Given the description of an element on the screen output the (x, y) to click on. 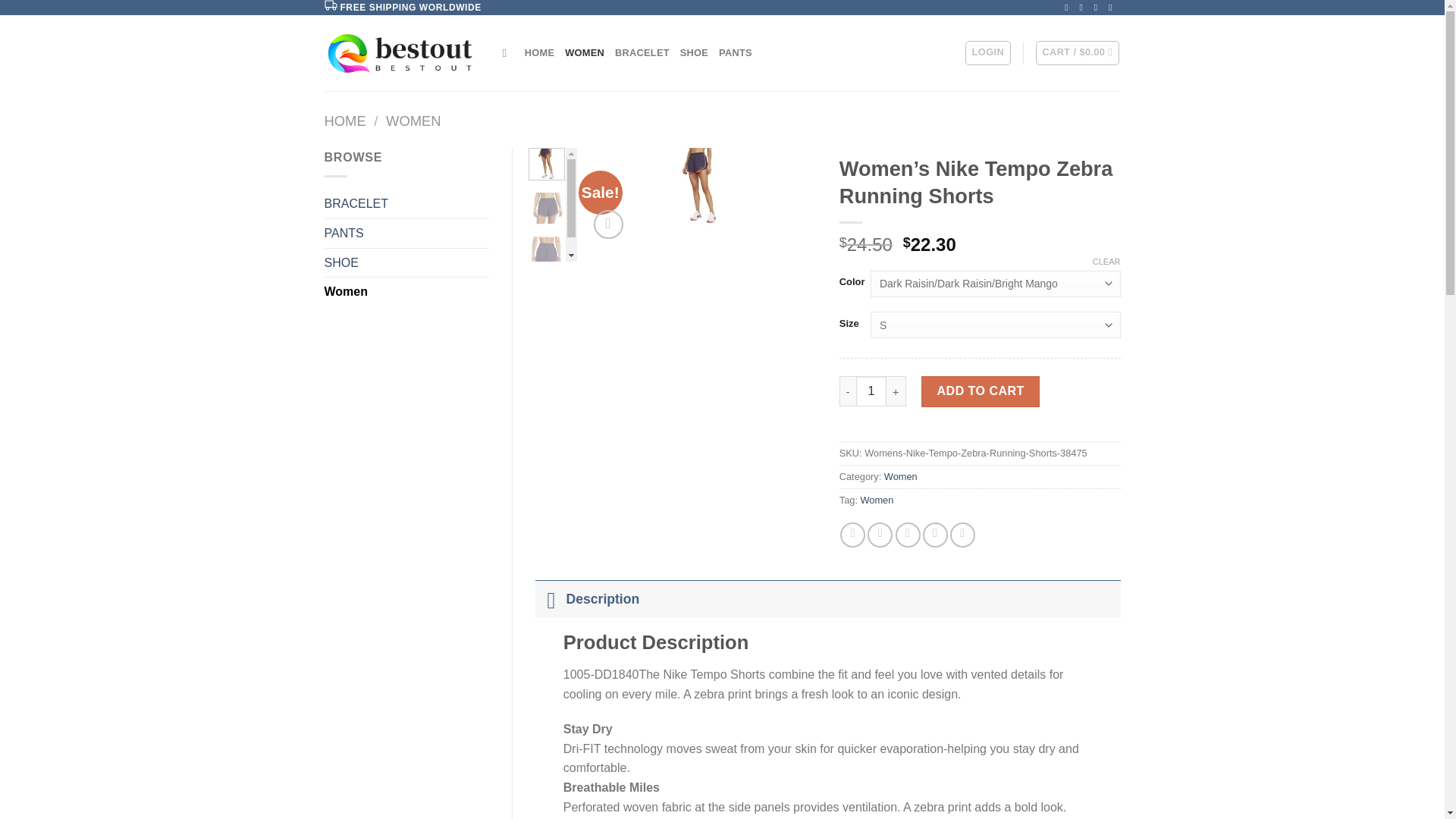
HOME (345, 120)
WOMEN (584, 52)
Zoom (608, 224)
HOME (539, 52)
SHOE (693, 52)
1005-DD1840.jpg (700, 186)
CLEAR (1107, 261)
BRACELET (406, 203)
PANTS (406, 233)
ADD TO CART (980, 390)
Women (876, 500)
Women (406, 291)
Share on Facebook (852, 534)
WOMEN (413, 120)
Cart (1077, 52)
